Given the description of an element on the screen output the (x, y) to click on. 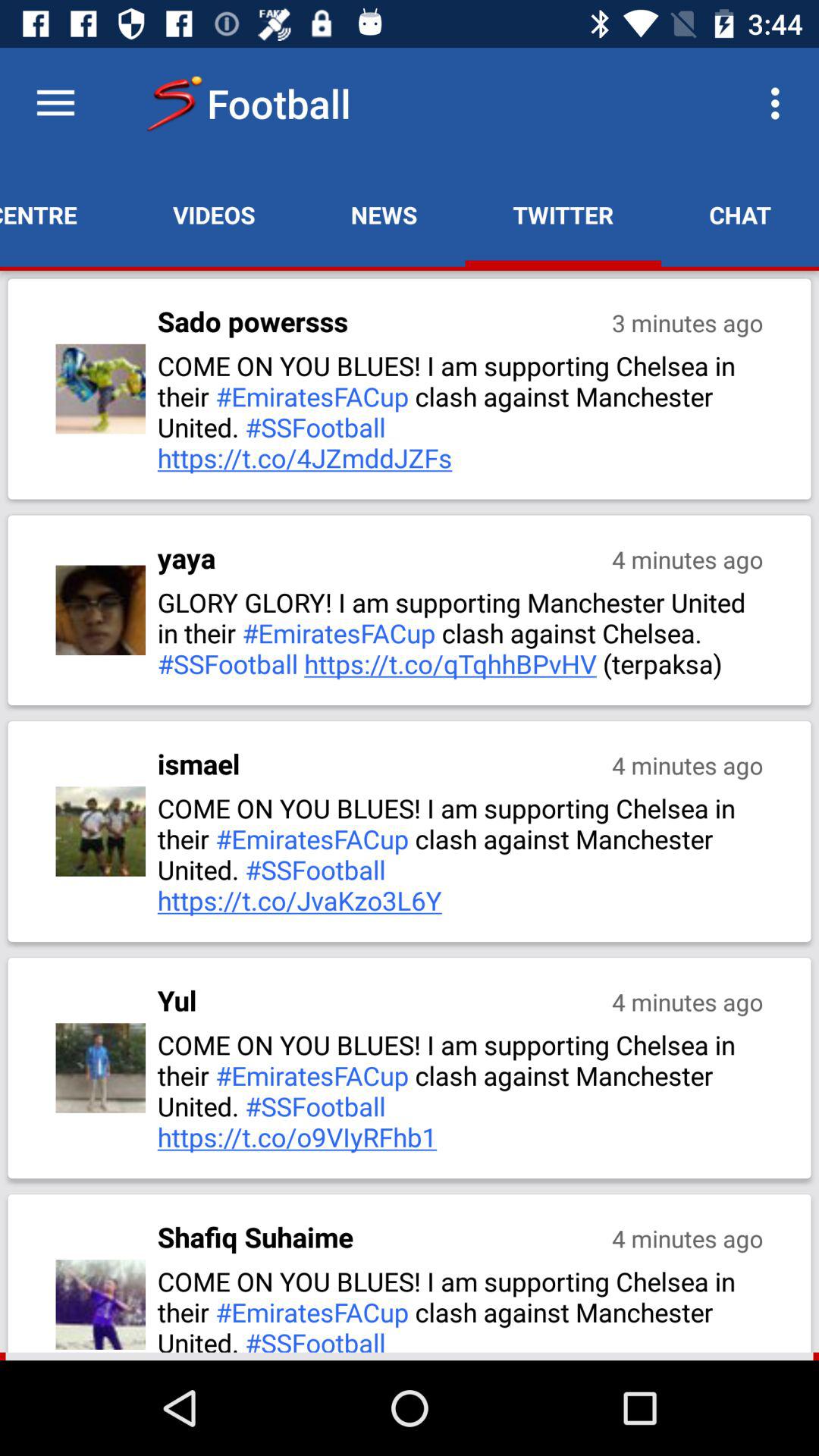
tap the item below yaya (462, 632)
